Given the description of an element on the screen output the (x, y) to click on. 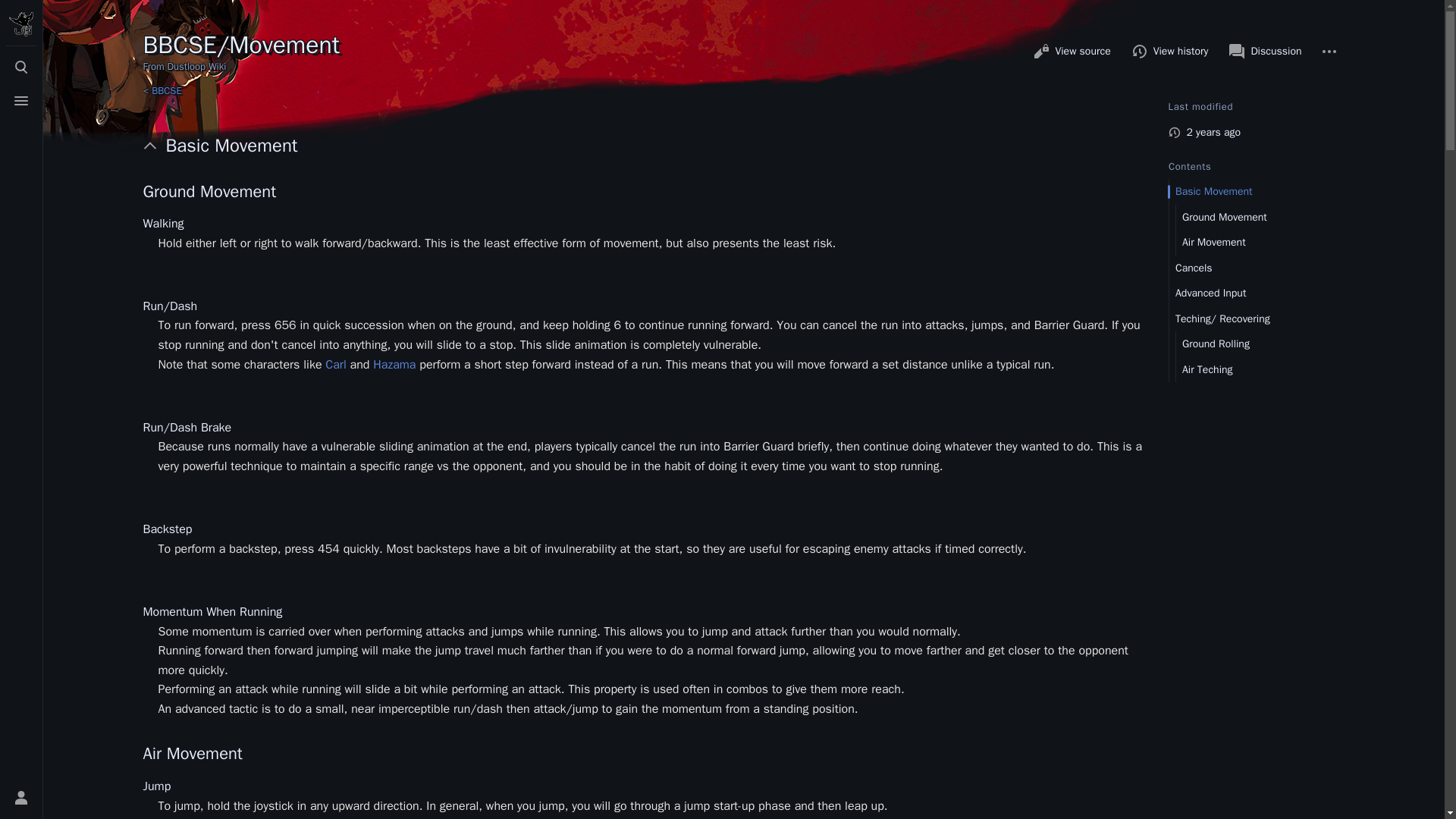
Visit the main page (20, 24)
Toggle personal menu (20, 797)
Toggle menu (20, 100)
